Given the description of an element on the screen output the (x, y) to click on. 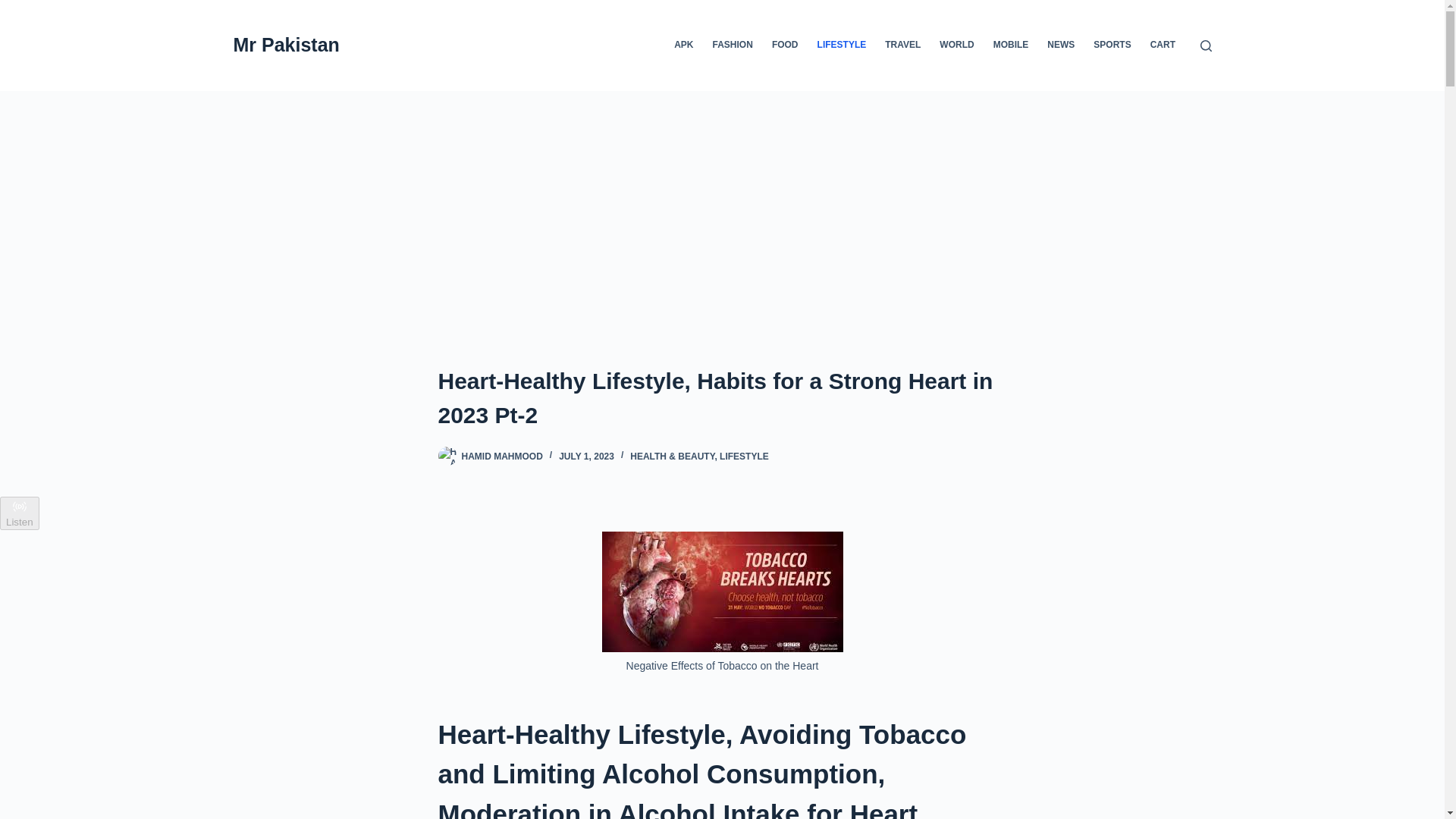
HAMID MAHMOOD (501, 456)
Mr Pakistan (285, 44)
LIFESTYLE (743, 456)
Posts by Hamid Mahmood (501, 456)
Skip to content (15, 7)
